Given the description of an element on the screen output the (x, y) to click on. 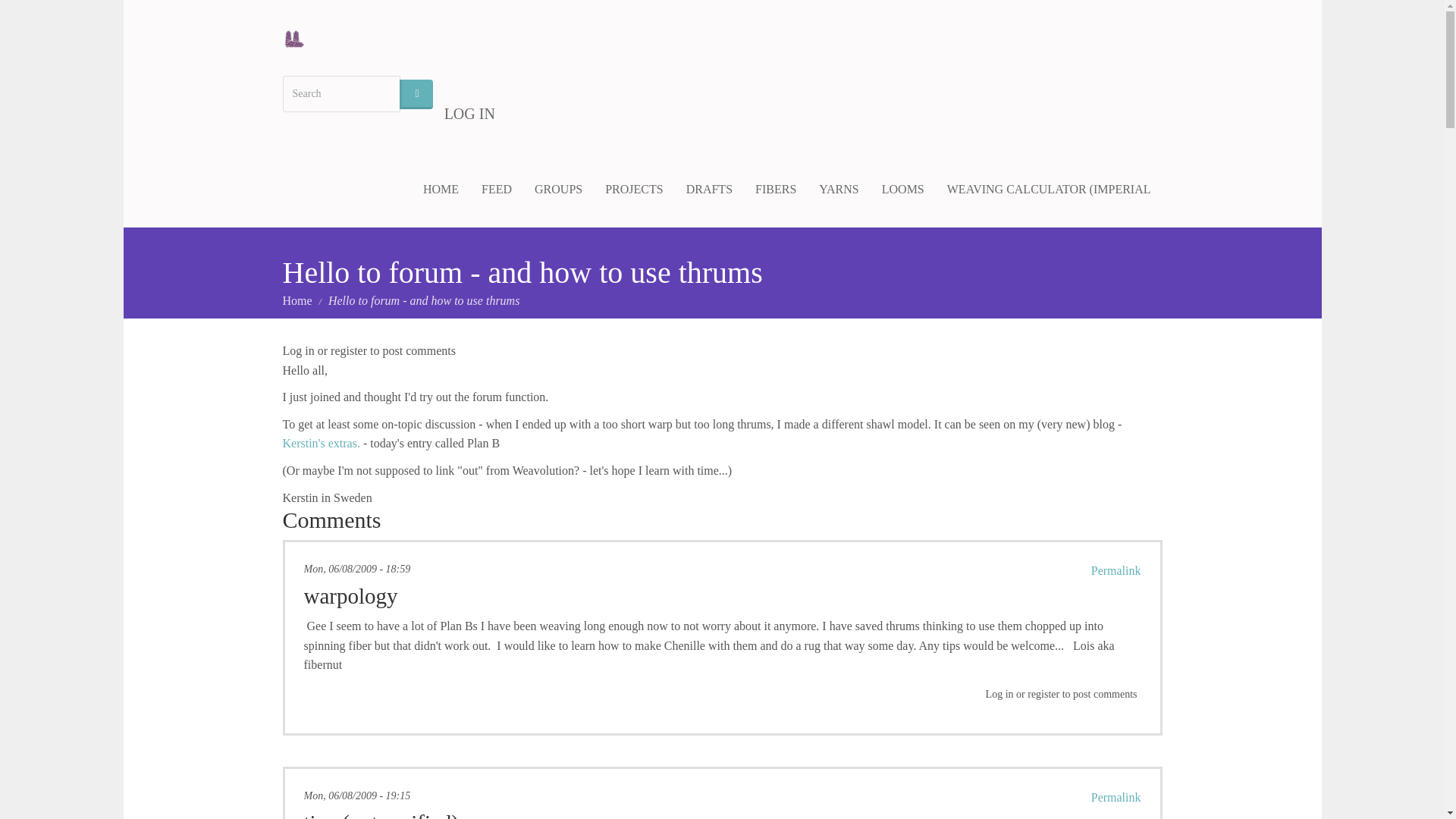
Log in (298, 350)
The projects shared by the community. (634, 189)
GROUPS (558, 189)
LOG IN (469, 113)
PROJECTS (634, 189)
Search (415, 93)
Home (296, 300)
Permalink (1115, 797)
register (1043, 694)
Permalink (1115, 570)
register (348, 350)
Kerstin's extras. (320, 442)
DRAFTS (709, 189)
